Given the description of an element on the screen output the (x, y) to click on. 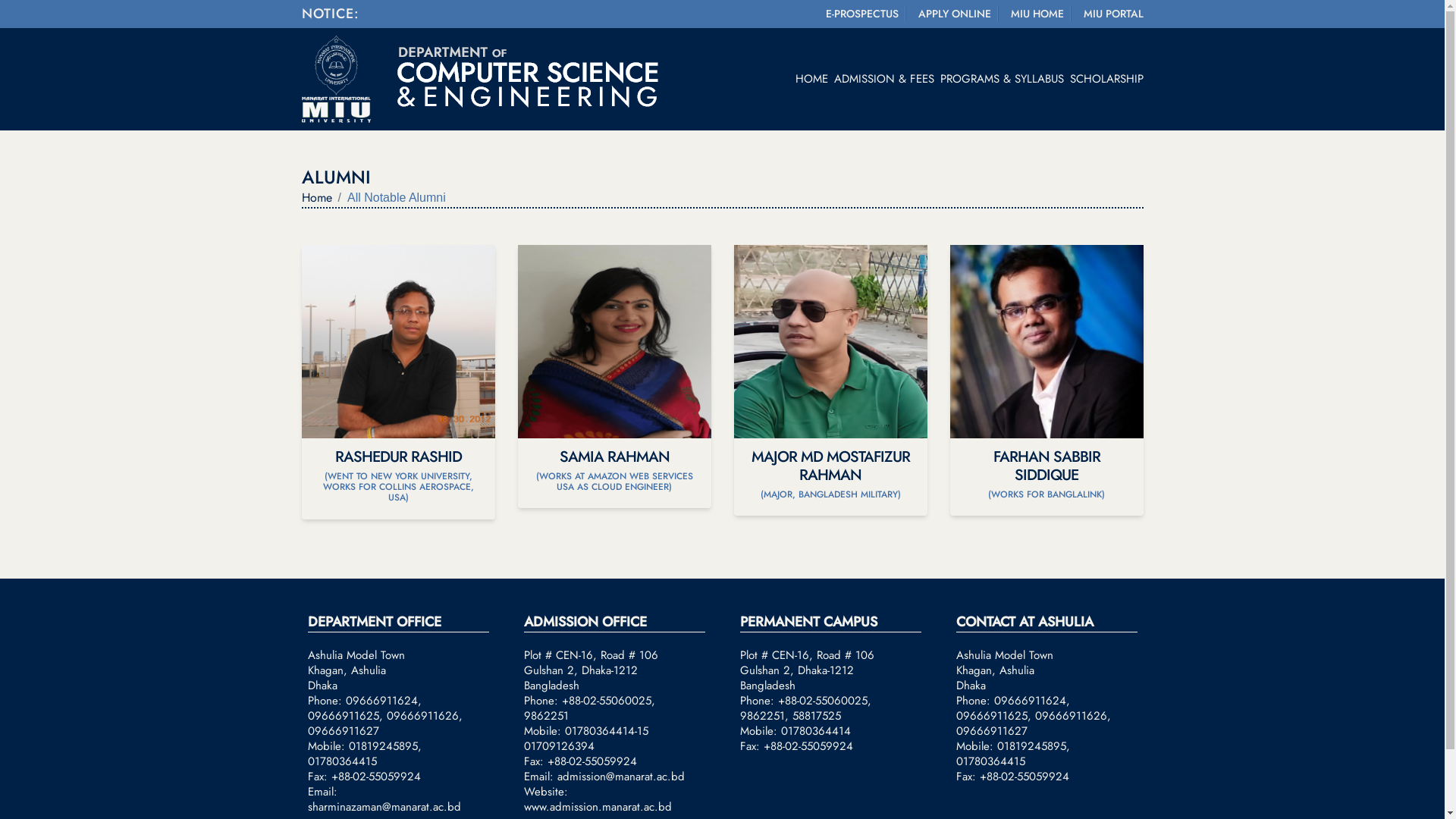
FARHAN SABBIR SIDDIQUE
(WORKS FOR BANGLALINK) Element type: text (1045, 379)
PROGRAMS & SYLLABUS Element type: text (998, 79)
SCHOLARSHIP Element type: text (1102, 79)
ADMISSION & FEES Element type: text (881, 79)
MAJOR MD MOSTAFIZUR RAHMAN
(MAJOR, BANGLADESH MILITARY) Element type: text (830, 379)
MIU PORTAL Element type: text (1109, 13)
Home Element type: text (316, 197)
HOME Element type: text (807, 79)
MIU HOME Element type: text (1033, 13)
APPLY ONLINE Element type: text (950, 13)
E-PROSPECTUS Element type: text (858, 13)
NOTICE: Element type: text (330, 12)
